Given the description of an element on the screen output the (x, y) to click on. 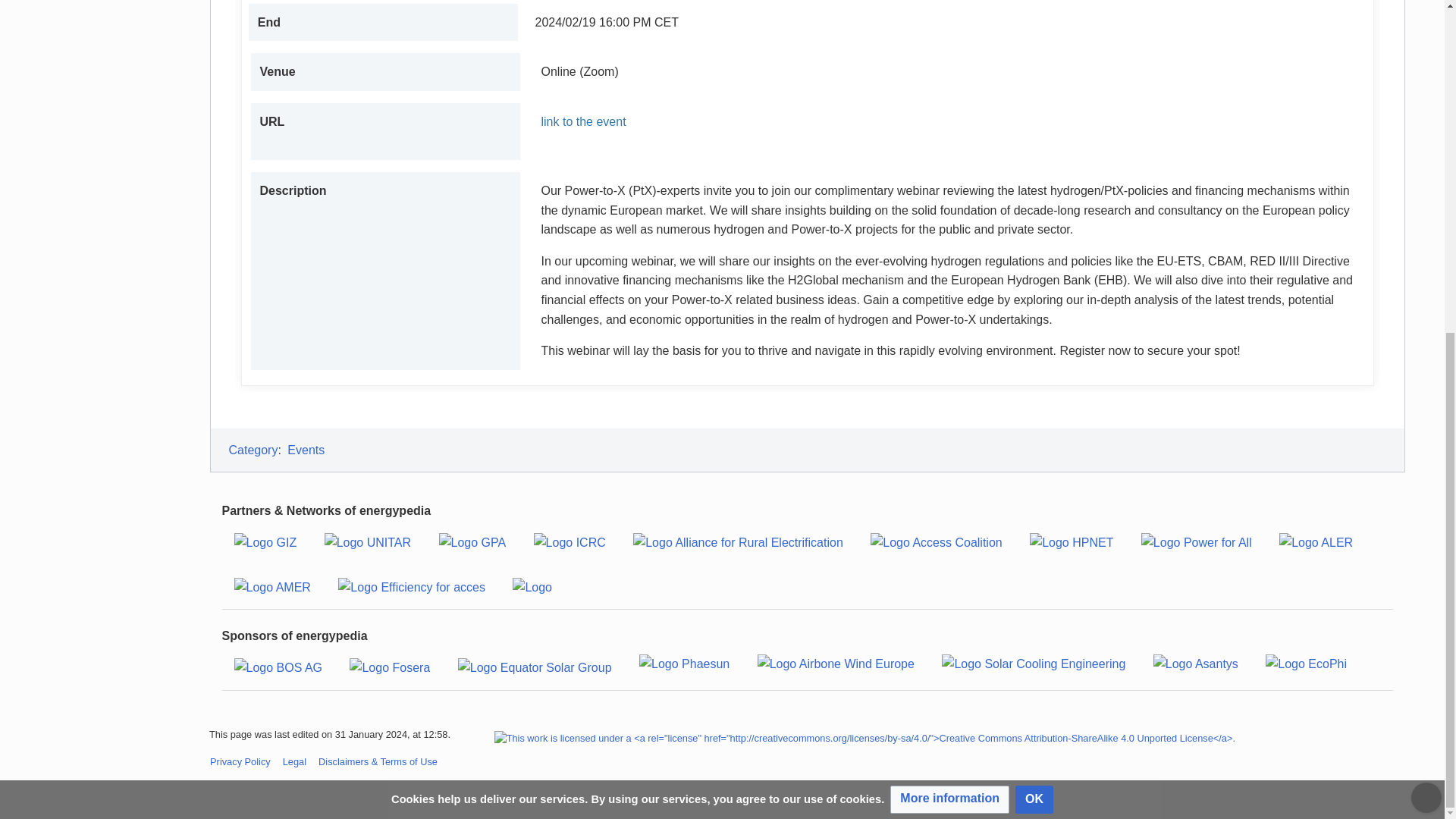
OK (1033, 244)
Events (305, 449)
More information (949, 244)
Category:Events (305, 449)
Category (253, 449)
link to the event (948, 121)
Special:Categories (253, 449)
